Given the description of an element on the screen output the (x, y) to click on. 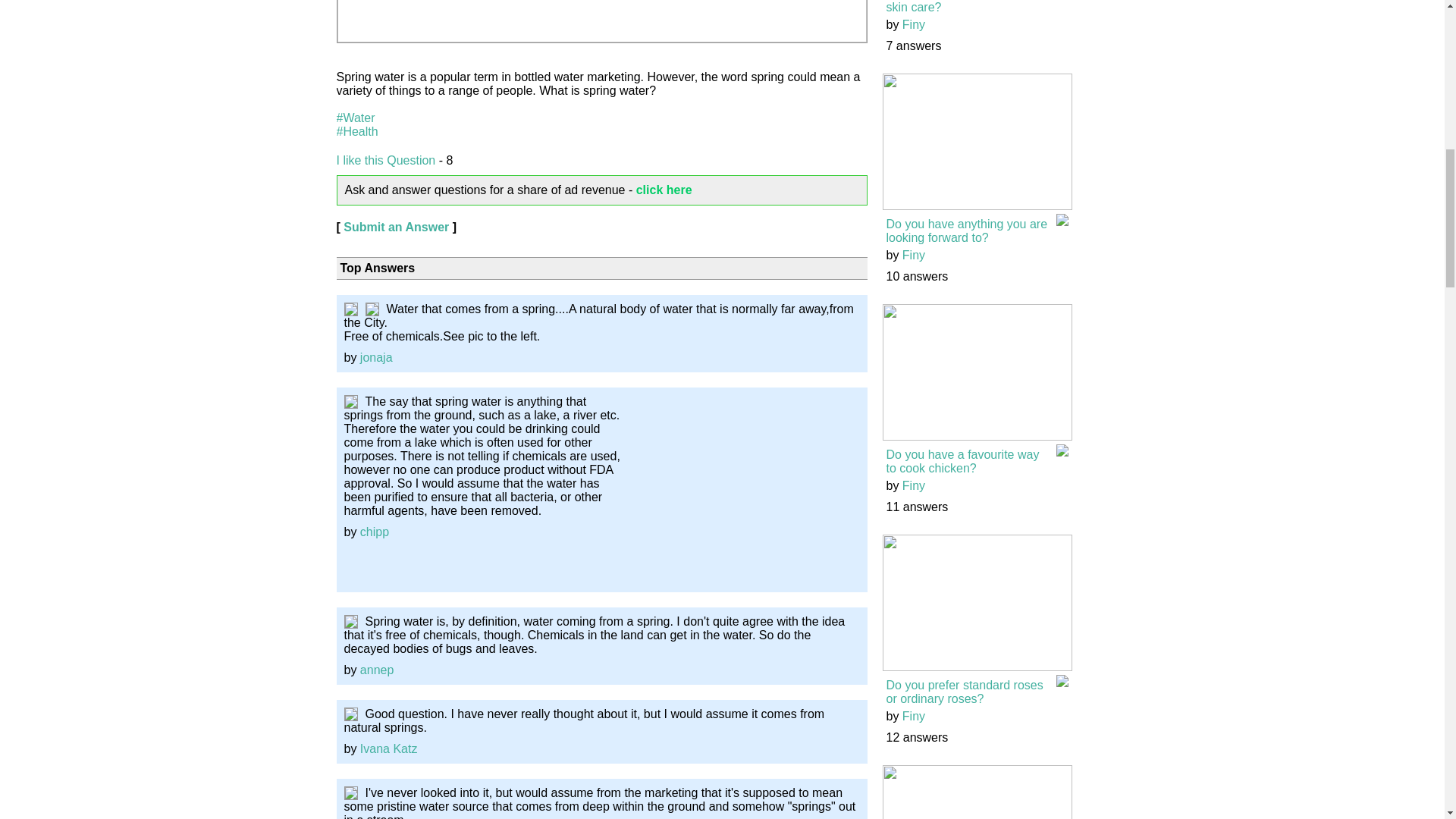
Advertisement (745, 489)
Ivana Katz (388, 748)
annep (376, 669)
Submit an Answer (395, 226)
I like this Question (385, 160)
chipp (373, 531)
click here (664, 189)
jonaja (376, 357)
